Given the description of an element on the screen output the (x, y) to click on. 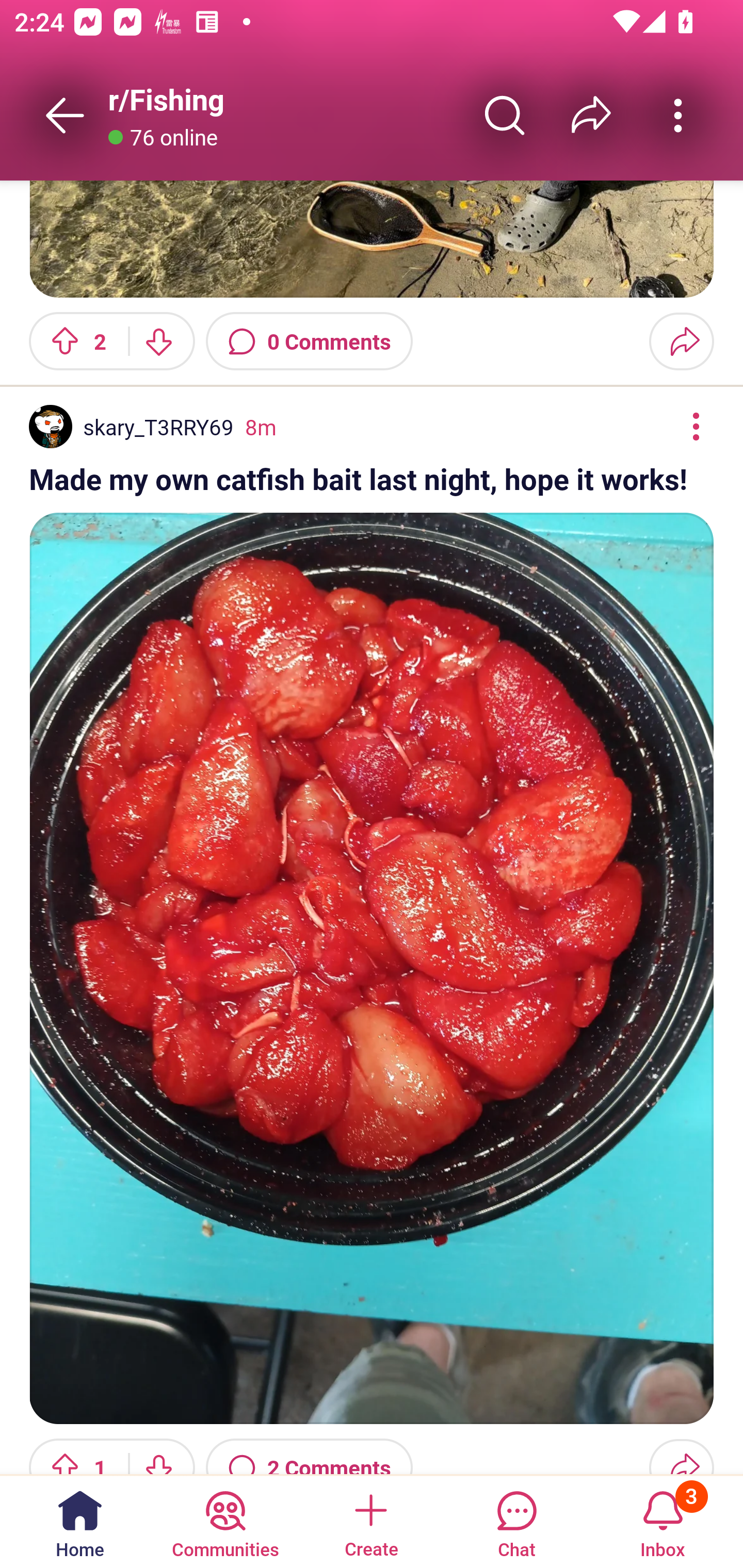
Back (64, 115)
Search r/﻿Fishing (504, 115)
Share r/﻿Fishing (591, 115)
More community actions (677, 115)
Home (80, 1520)
Communities (225, 1520)
Create a post Create (370, 1520)
Chat (516, 1520)
Inbox, has 3 notifications 3 Inbox (662, 1520)
